Given the description of an element on the screen output the (x, y) to click on. 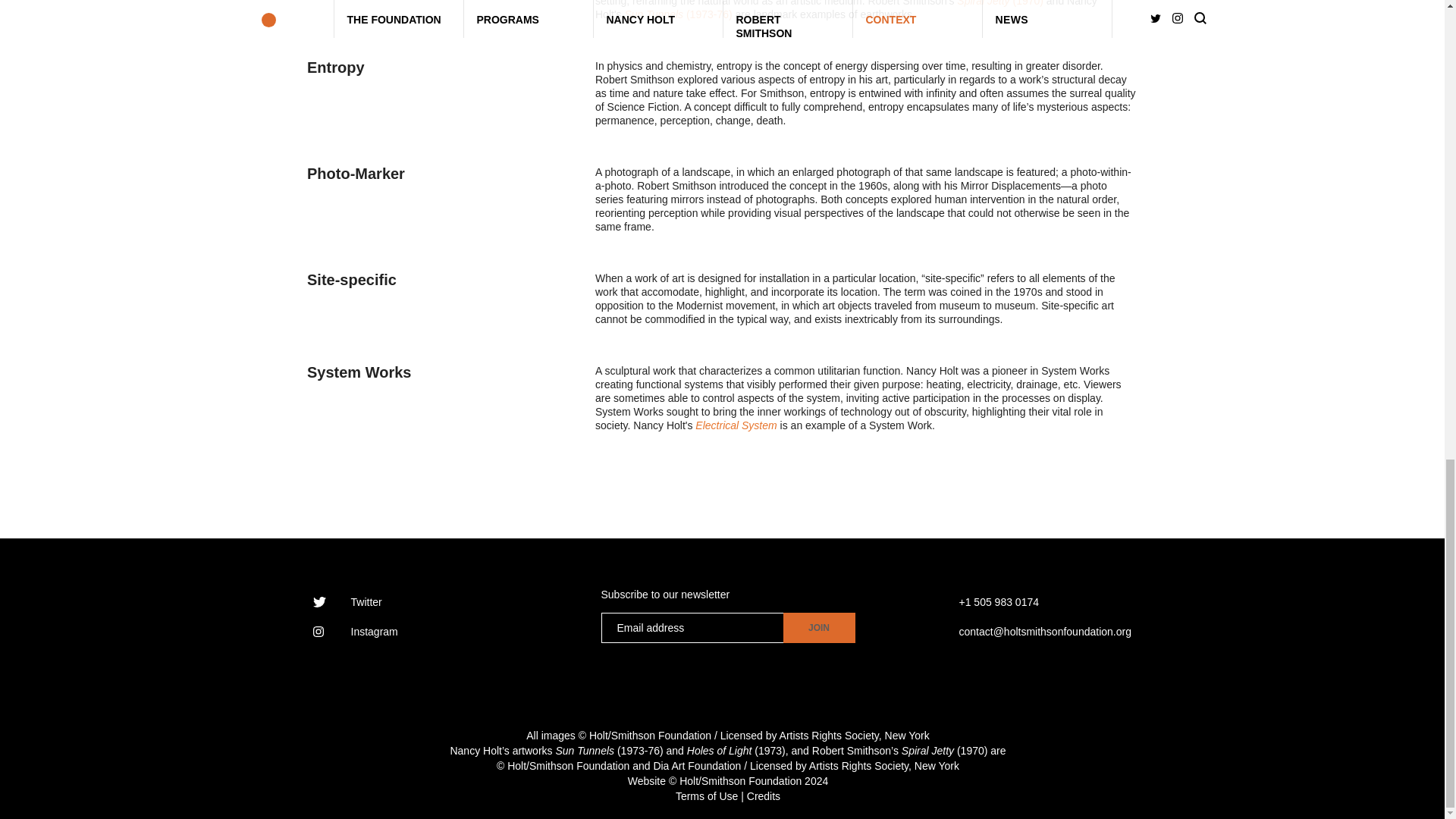
Join (818, 627)
